Given the description of an element on the screen output the (x, y) to click on. 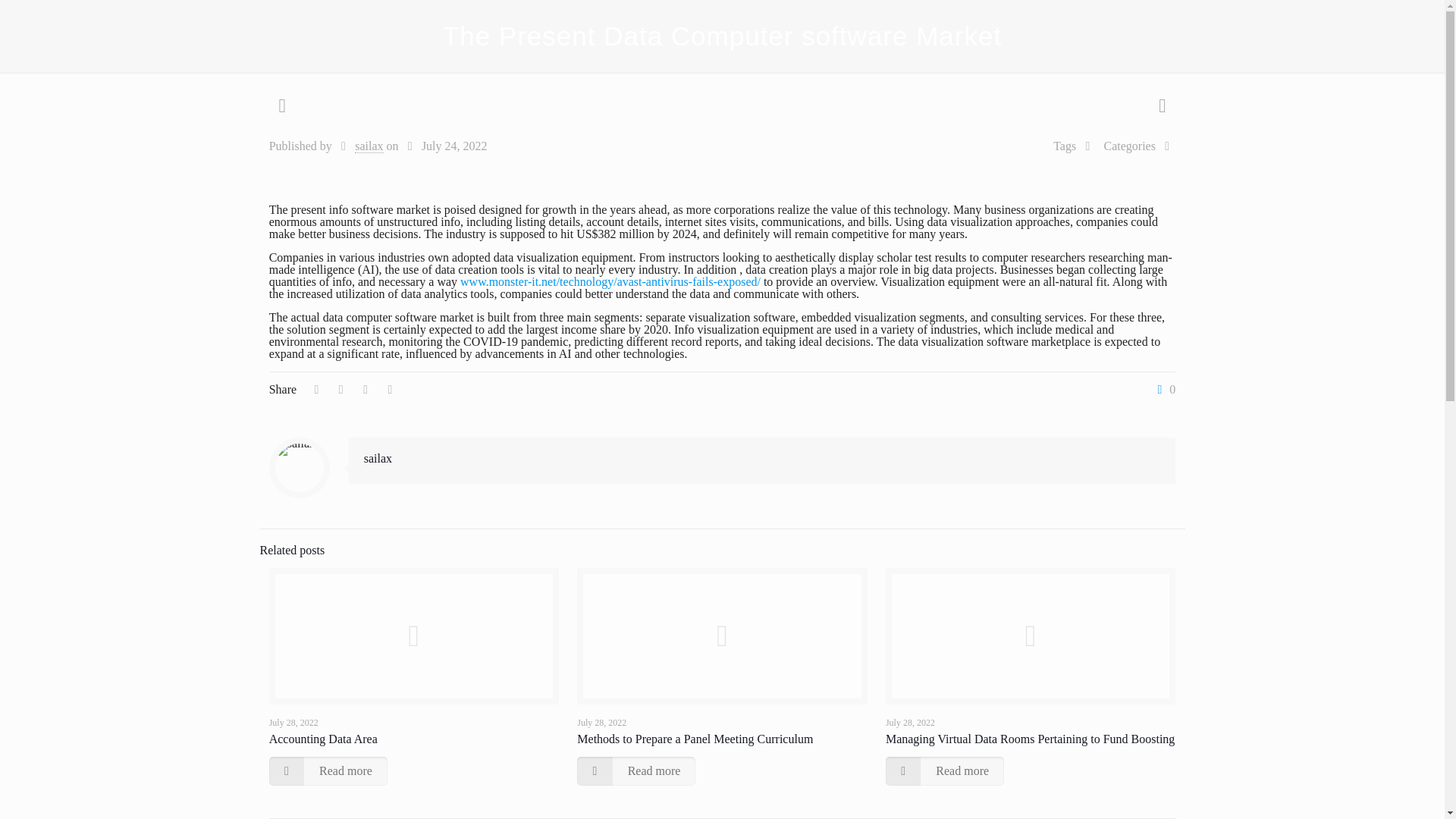
Managing Virtual Data Rooms Pertaining to Fund Boosting (1029, 738)
Read more (635, 770)
sailax (377, 458)
Accounting Data Area (323, 738)
Read more (944, 770)
0 (1162, 389)
Read more (328, 770)
Methods to Prepare a Panel Meeting Curriculum (694, 738)
sailax (368, 146)
